Given the description of an element on the screen output the (x, y) to click on. 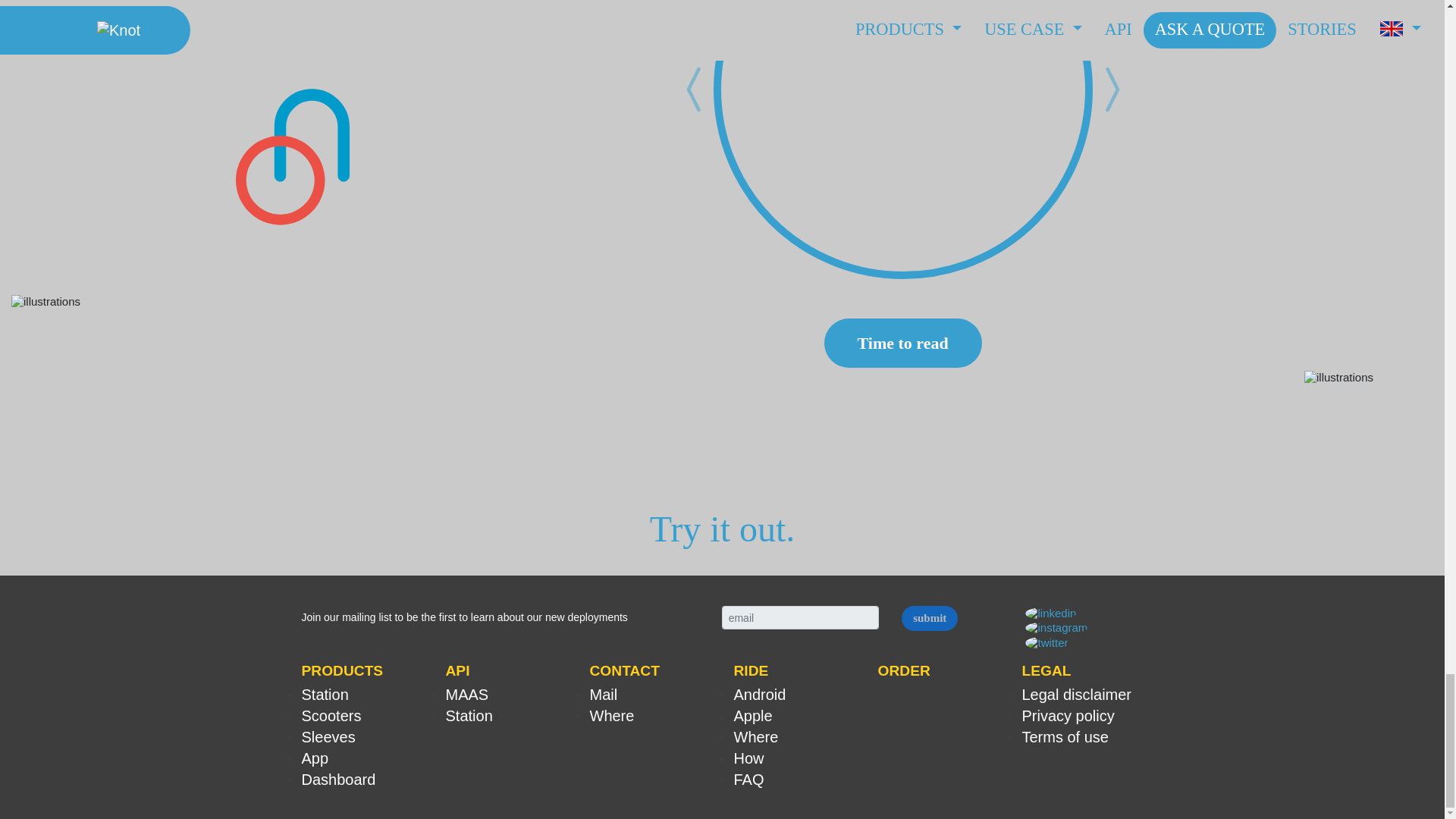
submit (929, 618)
Time to read (902, 342)
Previous (695, 135)
Next (1110, 135)
